Given the description of an element on the screen output the (x, y) to click on. 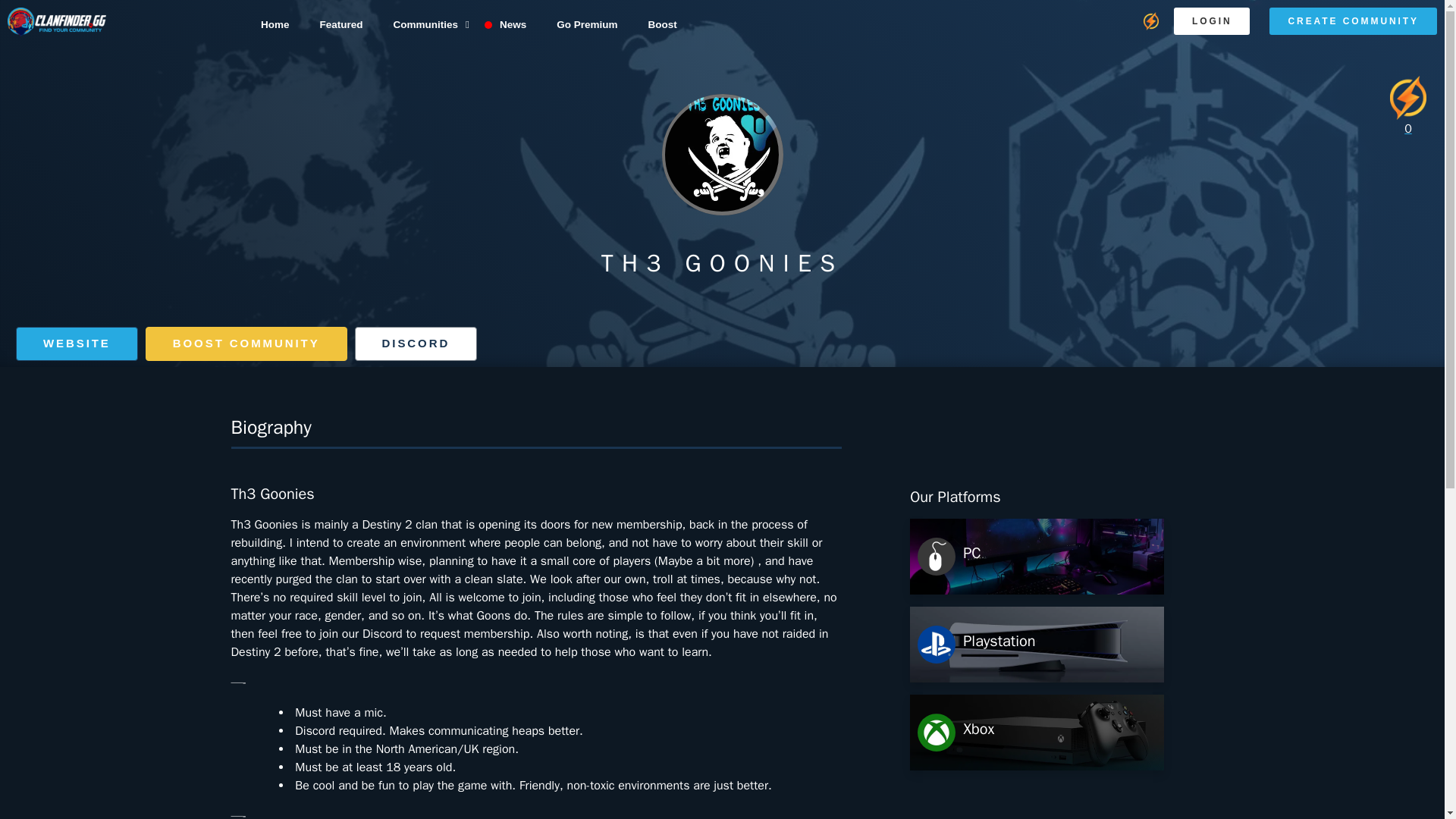
Discord (416, 343)
News (512, 24)
Join (77, 343)
Go Premium (586, 24)
Boost Community (246, 343)
Featured (340, 24)
Boost (661, 24)
Communities (430, 24)
LOGIN (1211, 21)
CREATE COMMUNITY (1353, 21)
